Given the description of an element on the screen output the (x, y) to click on. 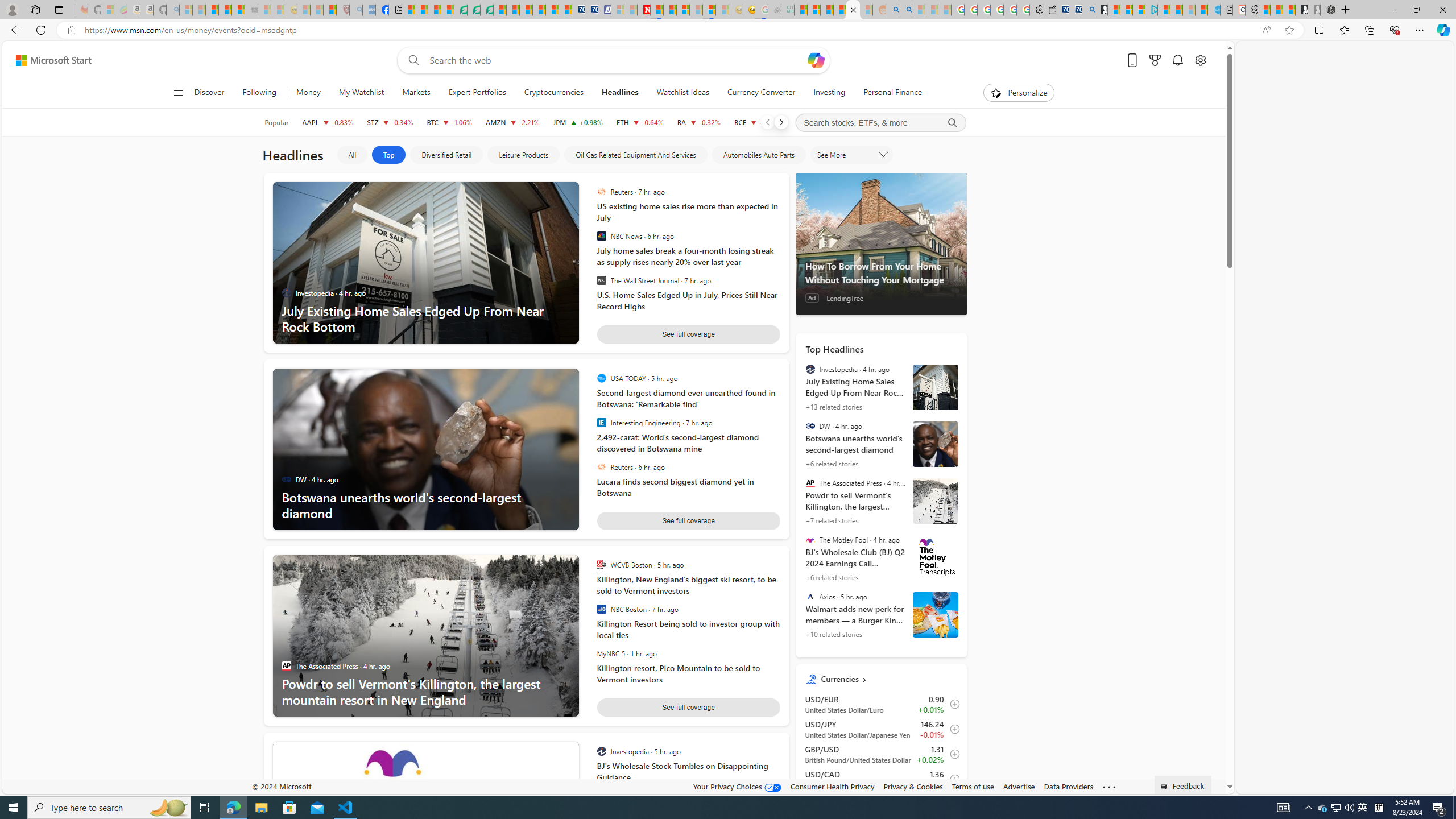
Personalize (1019, 92)
Consumer Health Privacy (832, 786)
Wallet (1049, 9)
Nordace - Nordace Siena Is Not An Ordinary Backpack (1327, 9)
Diversified Retail (446, 154)
MSNBC - MSN (800, 9)
Open Copilot (816, 59)
Automobiles Auto Parts (758, 154)
Axios (810, 596)
DITOGAMES AG Imprint - Sleeping (787, 9)
Microsoft Word - consumer-privacy address update 2.2021 (486, 9)
Microsoft rewards (1154, 60)
